Given the description of an element on the screen output the (x, y) to click on. 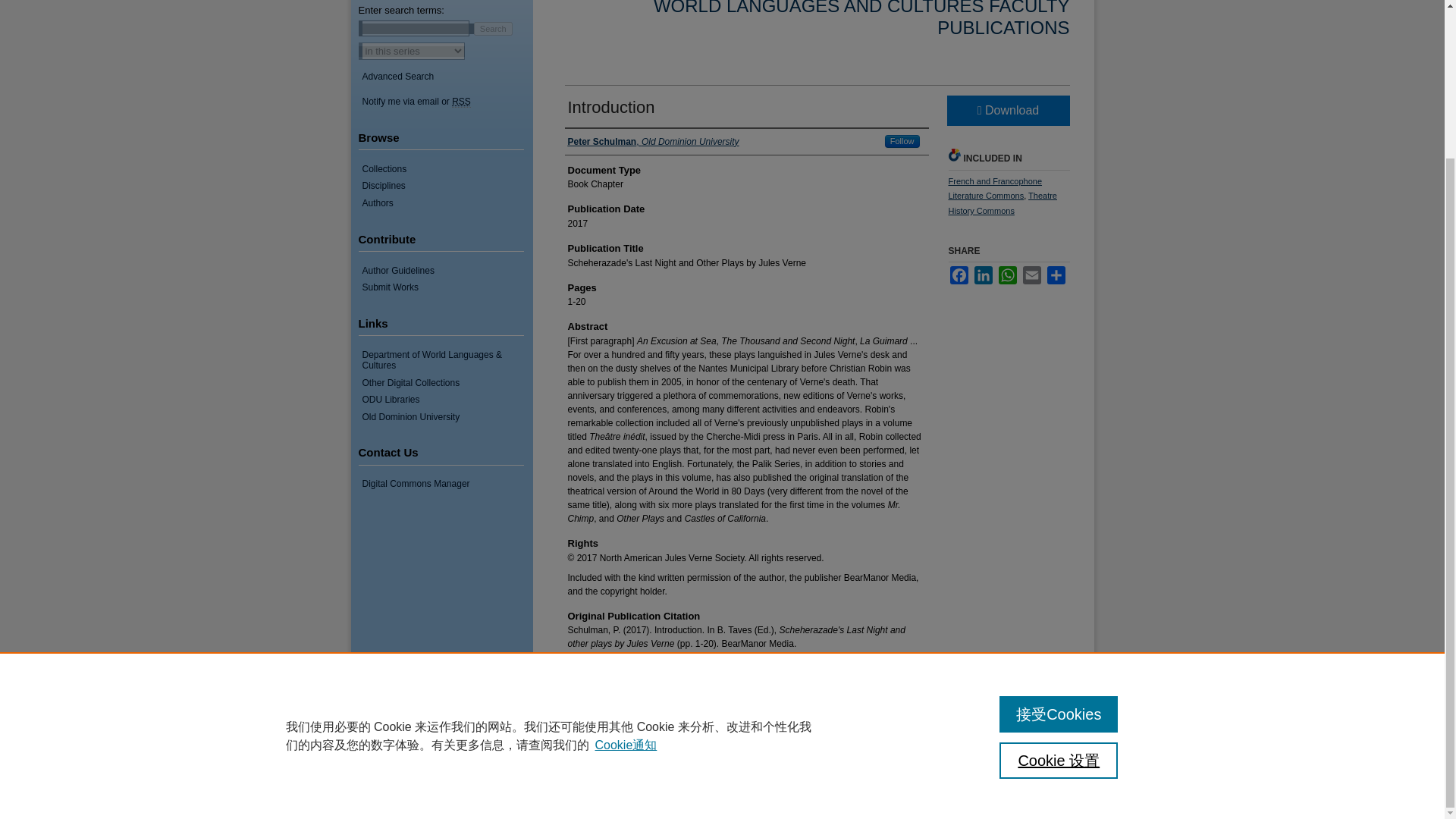
WhatsApp (1006, 275)
Theatre History Commons (1002, 202)
Facebook (958, 275)
Email (1031, 275)
Follow (902, 141)
French and Francophone Literature Commons (994, 188)
Really Simple Syndication (460, 101)
Collections (447, 168)
Peter Schulman, Old Dominion University (652, 141)
Search (493, 28)
WORLD LANGUAGES AND CULTURES FACULTY PUBLICATIONS (861, 18)
Disciplines (447, 185)
Email or RSS Notifications (447, 101)
Advanced Search (397, 76)
LinkedIn (982, 275)
